Given the description of an element on the screen output the (x, y) to click on. 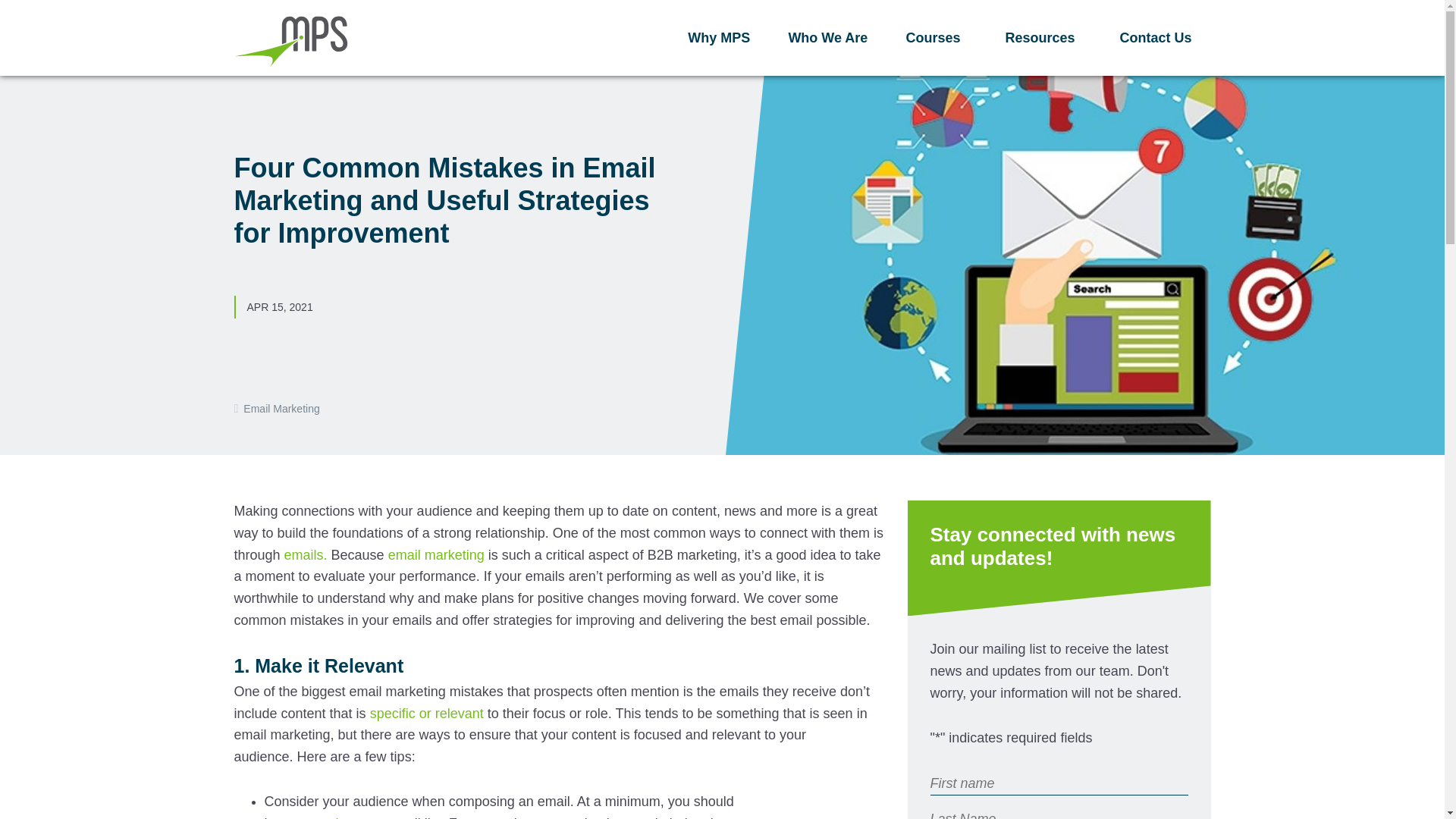
Resources (1042, 37)
Contact Us (1154, 37)
segmenting (318, 817)
Email Marketing (280, 408)
Courses (935, 37)
specific or relevant (426, 713)
Who We Are (827, 37)
email marketing (436, 554)
Why MPS (718, 37)
